Given the description of an element on the screen output the (x, y) to click on. 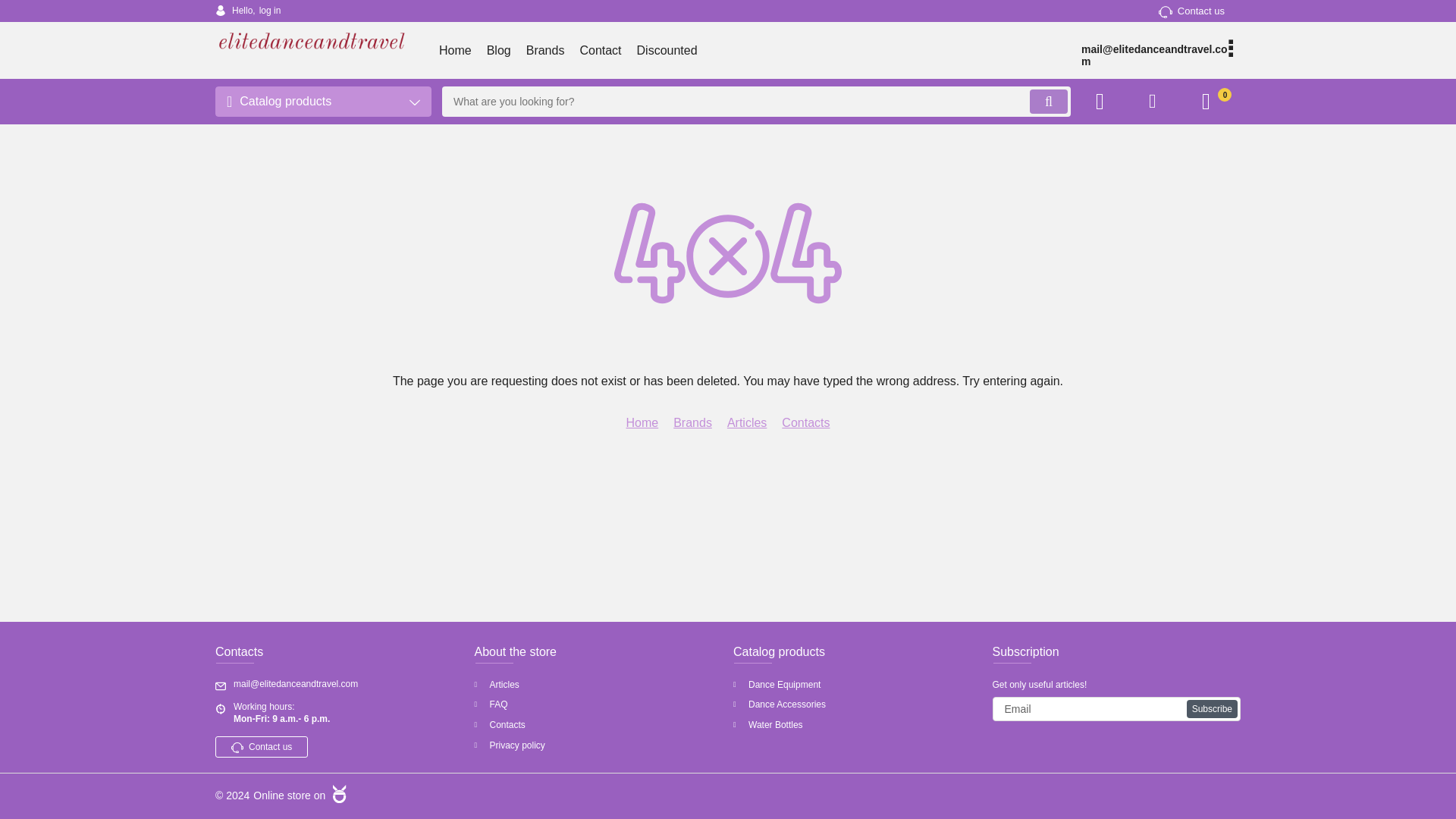
Articles (746, 423)
Water Bottles (857, 725)
Blog (498, 50)
Contacts (805, 423)
Contact us (1191, 10)
FAQ (598, 704)
Brands (692, 423)
Brands (545, 50)
Contact us (261, 746)
Privacy policy (598, 745)
